Given the description of an element on the screen output the (x, y) to click on. 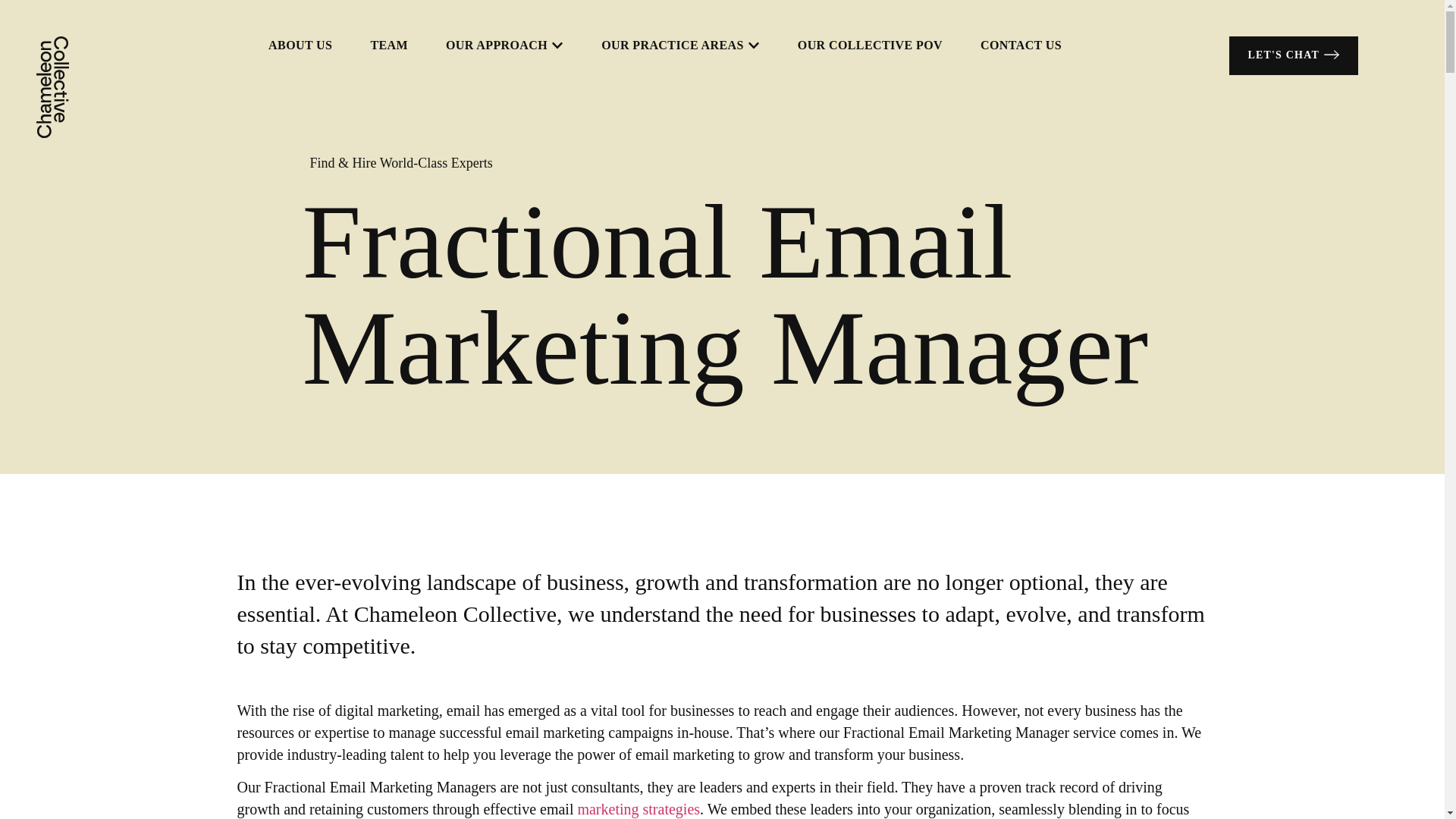
marketing strategies (638, 808)
OUR COLLECTIVE POV (869, 45)
ABOUT US (299, 45)
TEAM (388, 45)
CONTACT US (1020, 45)
LET'S CHAT (1293, 55)
